Given the description of an element on the screen output the (x, y) to click on. 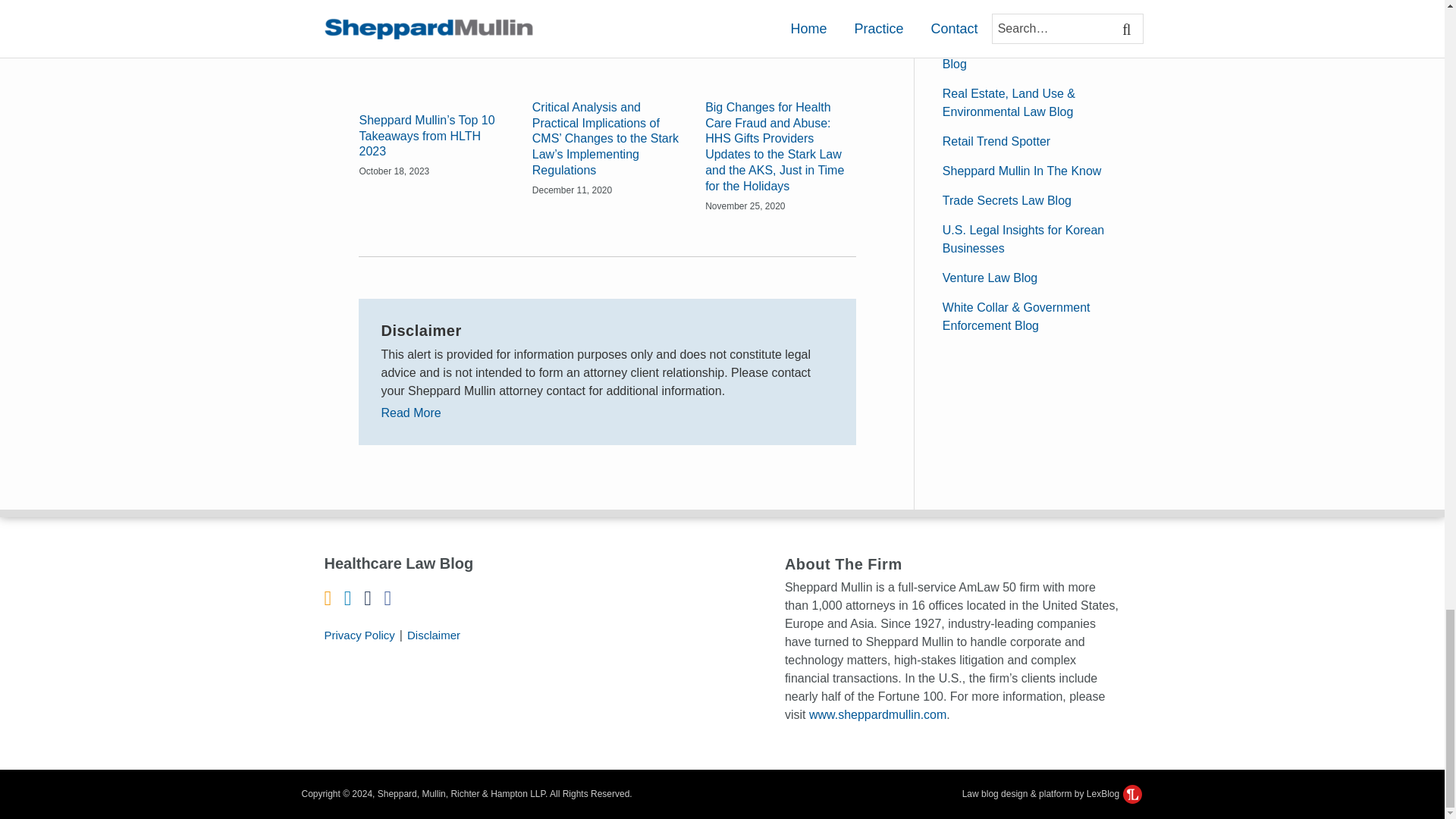
LexBlog Logo (1131, 793)
